Given the description of an element on the screen output the (x, y) to click on. 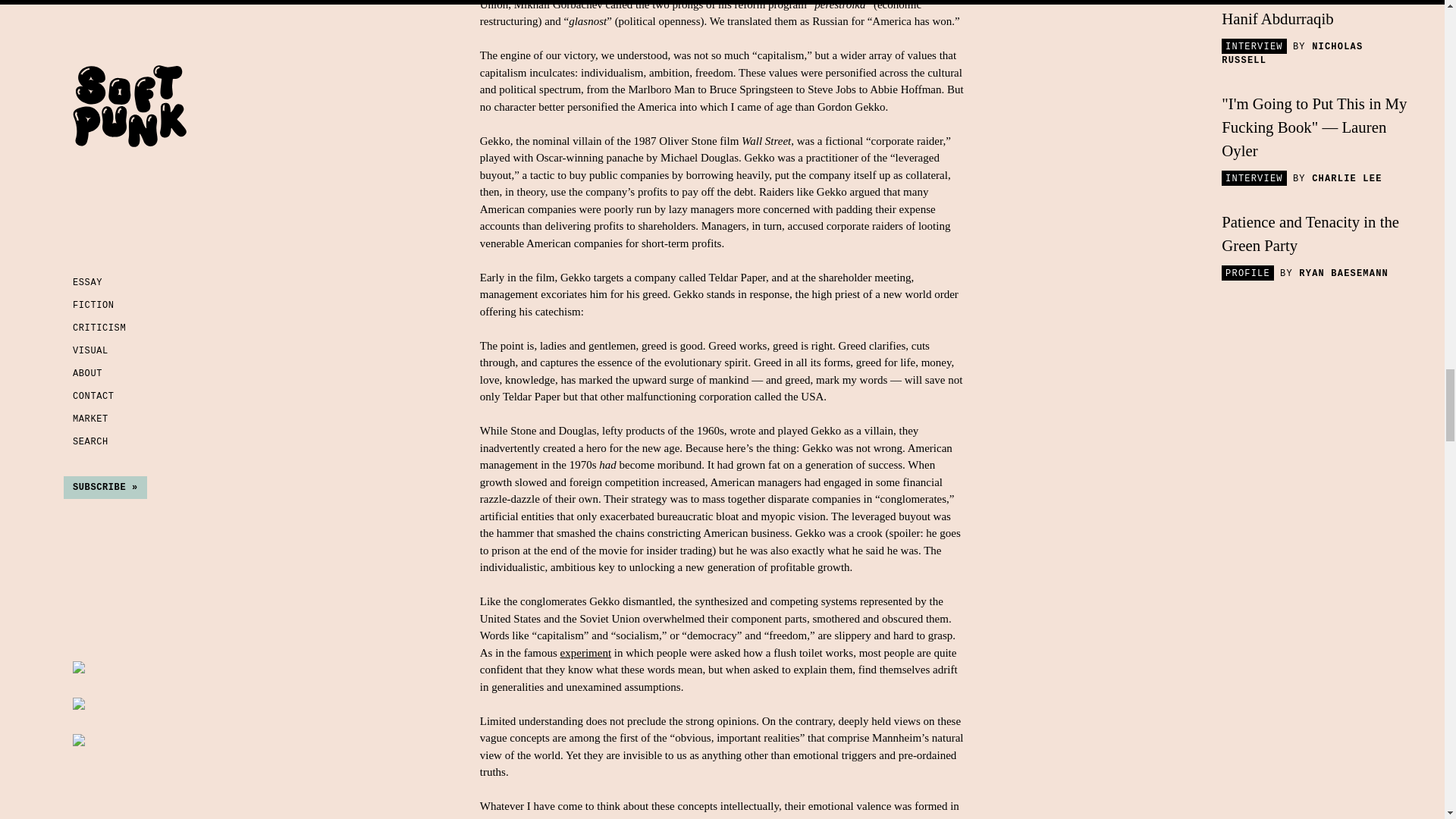
expe (570, 653)
rime (591, 653)
